Given the description of an element on the screen output the (x, y) to click on. 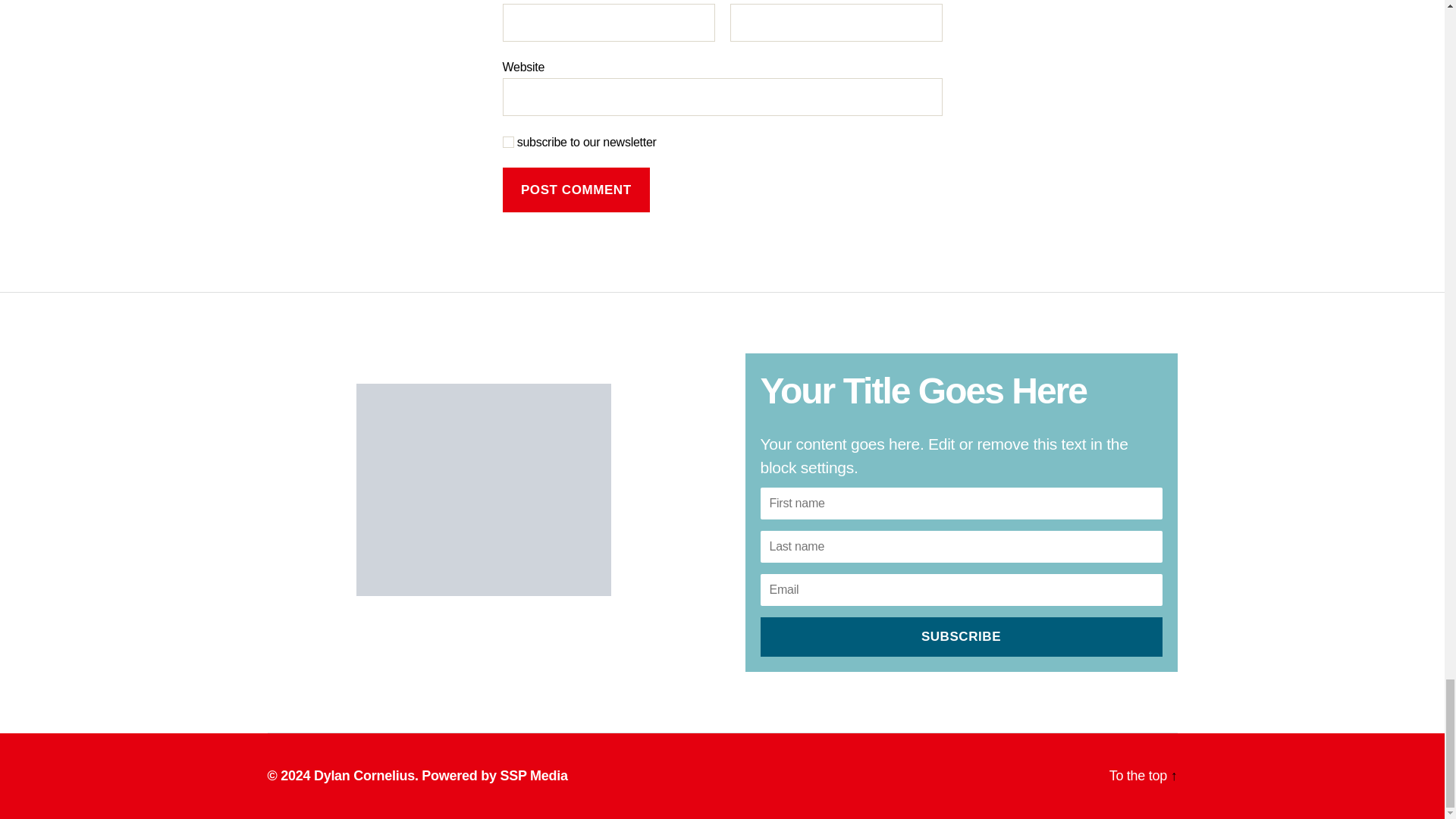
1 (507, 142)
Post Comment (575, 189)
Subscribe (960, 636)
